Given the description of an element on the screen output the (x, y) to click on. 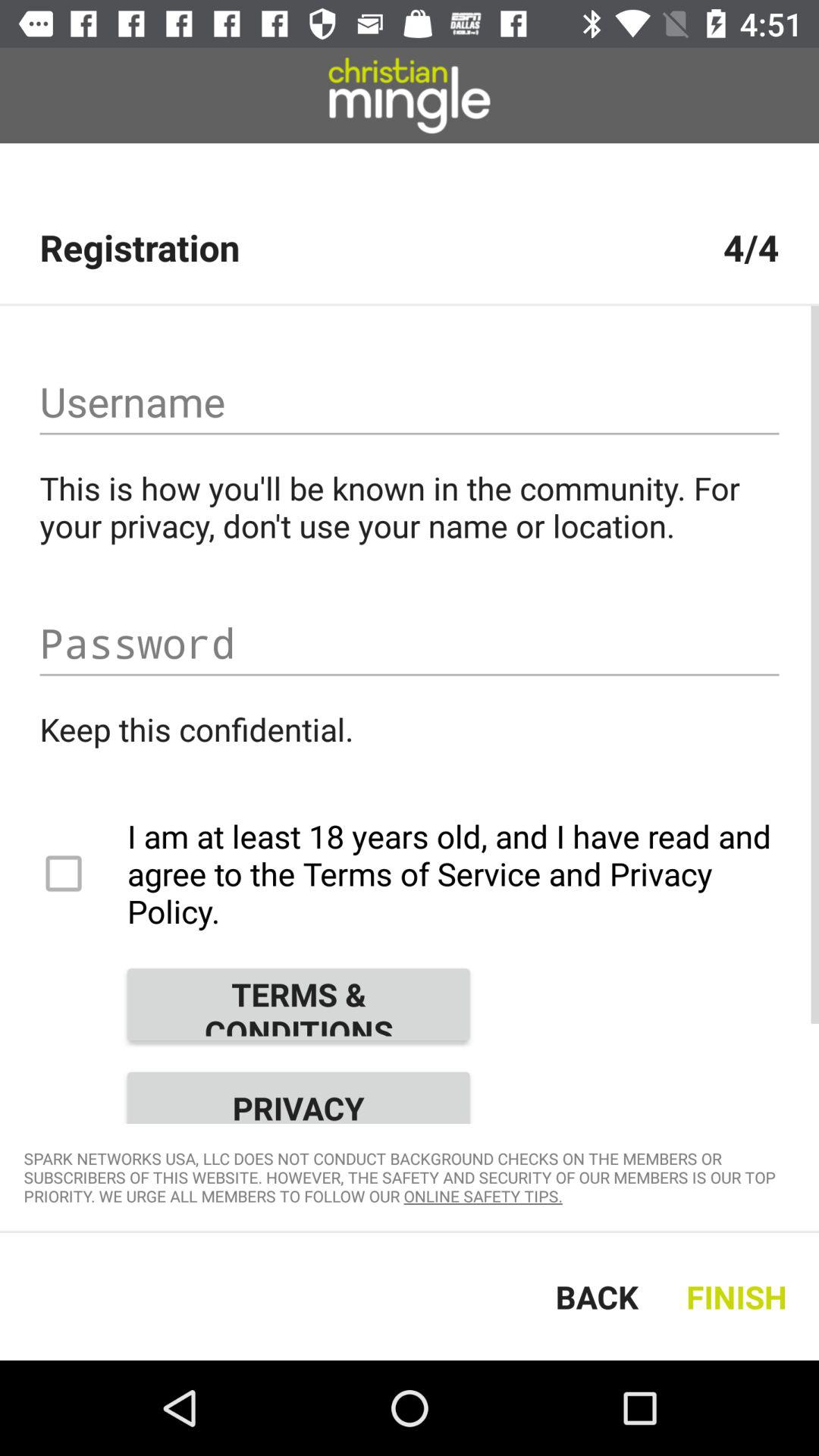
open the back icon (596, 1296)
